Given the description of an element on the screen output the (x, y) to click on. 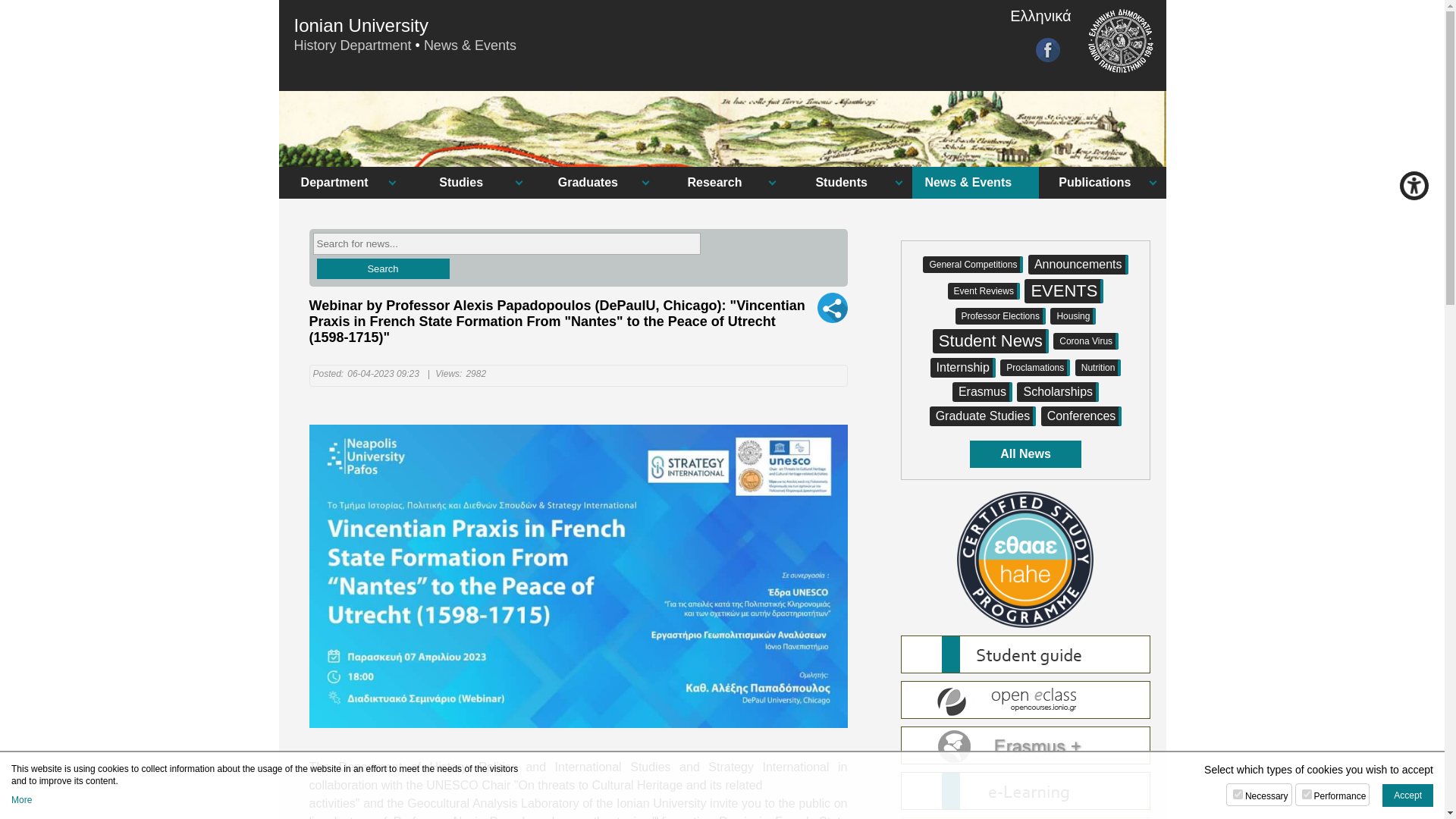
Students (849, 183)
Research (722, 183)
hahe (1024, 558)
Graduates (595, 183)
History Department (353, 45)
E LEARNING (1026, 790)
ERASMUS (1026, 745)
on (1238, 794)
Search (383, 268)
Ionian University (361, 18)
open e-class (1026, 699)
Ionio Central (361, 18)
Department (342, 183)
Studies (469, 183)
on (1306, 794)
